Given the description of an element on the screen output the (x, y) to click on. 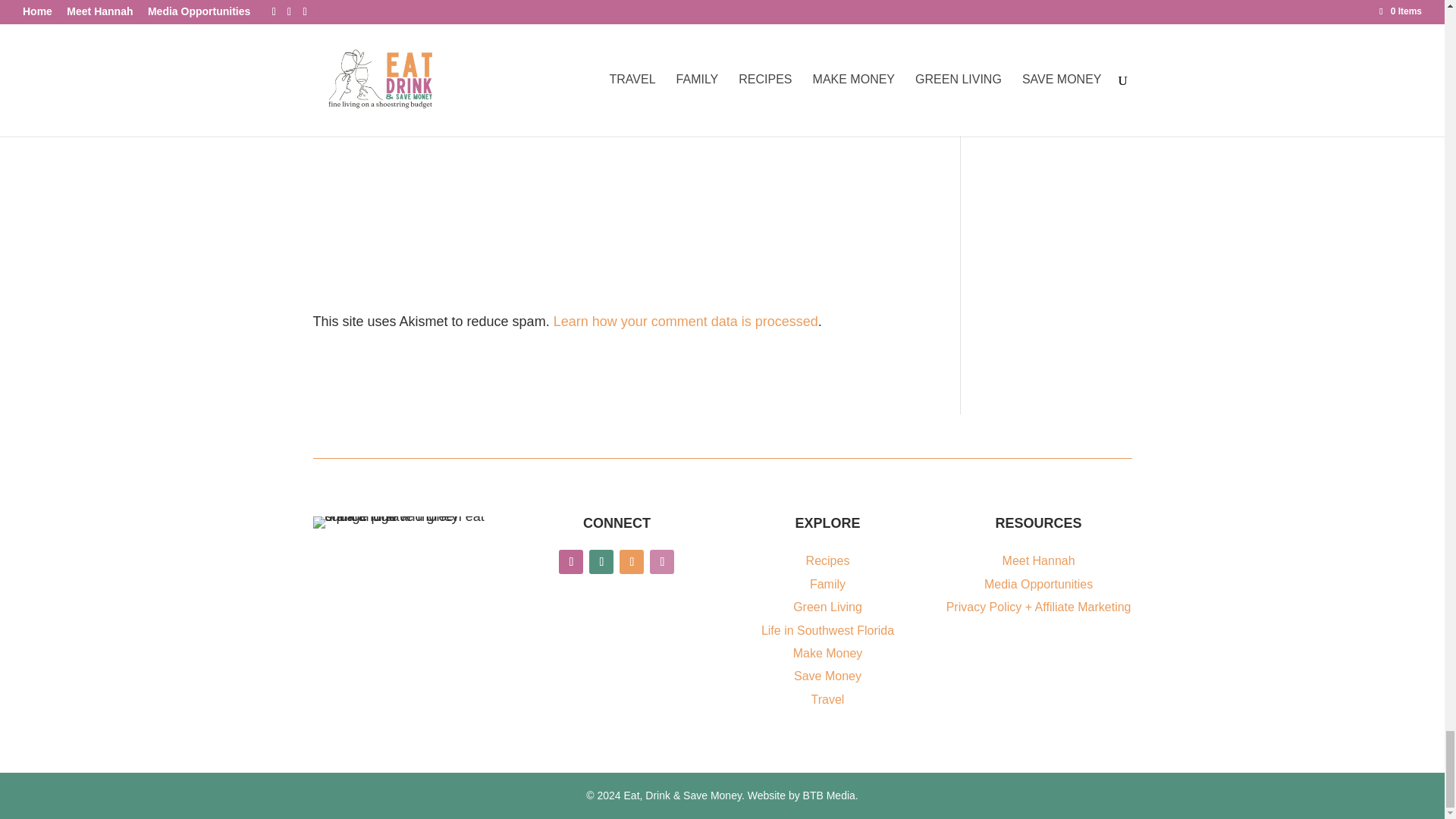
Follow on Instagram (600, 561)
Learn how your comment data is processed (685, 321)
Follow on Pinterest (631, 561)
orange pink and green eat drink and save money square logo (406, 522)
Follow on Facebook (571, 561)
Follow on X (661, 561)
